Given the description of an element on the screen output the (x, y) to click on. 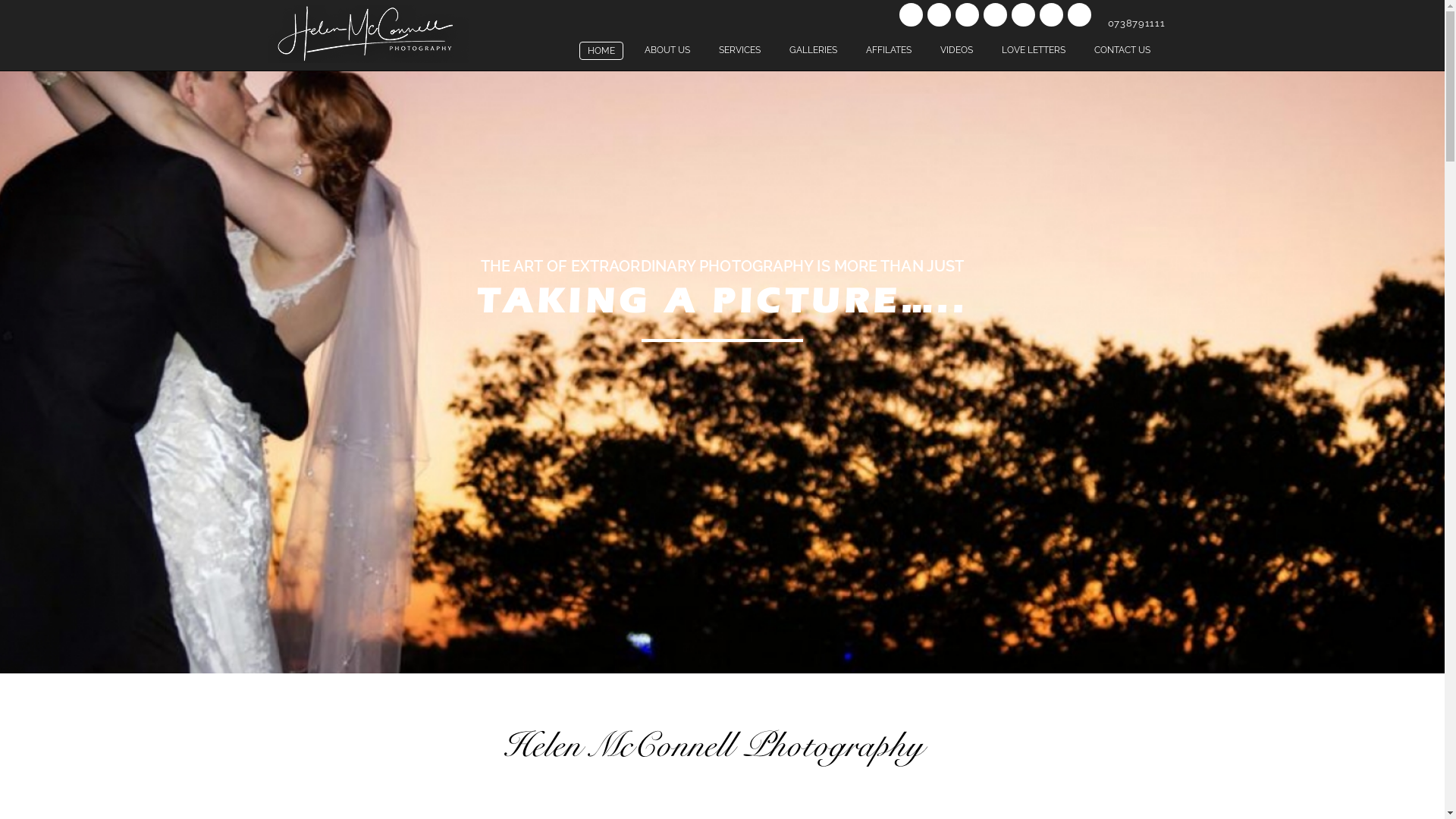
pinterest Element type: hover (1023, 14)
VIDEOS Element type: text (956, 49)
LOVE LETTERS Element type: text (1032, 49)
GALLERIES Element type: text (812, 49)
Facebook Element type: hover (910, 14)
ABOUT US Element type: text (667, 49)
instagram Element type: hover (1051, 14)
CONTACT US Element type: text (1121, 49)
Twitter Element type: hover (967, 14)
AFFILATES Element type: text (888, 49)
0738791111 Element type: text (1134, 22)
HOME Element type: text (601, 50)
SERVICES Element type: text (739, 49)
